Given the description of an element on the screen output the (x, y) to click on. 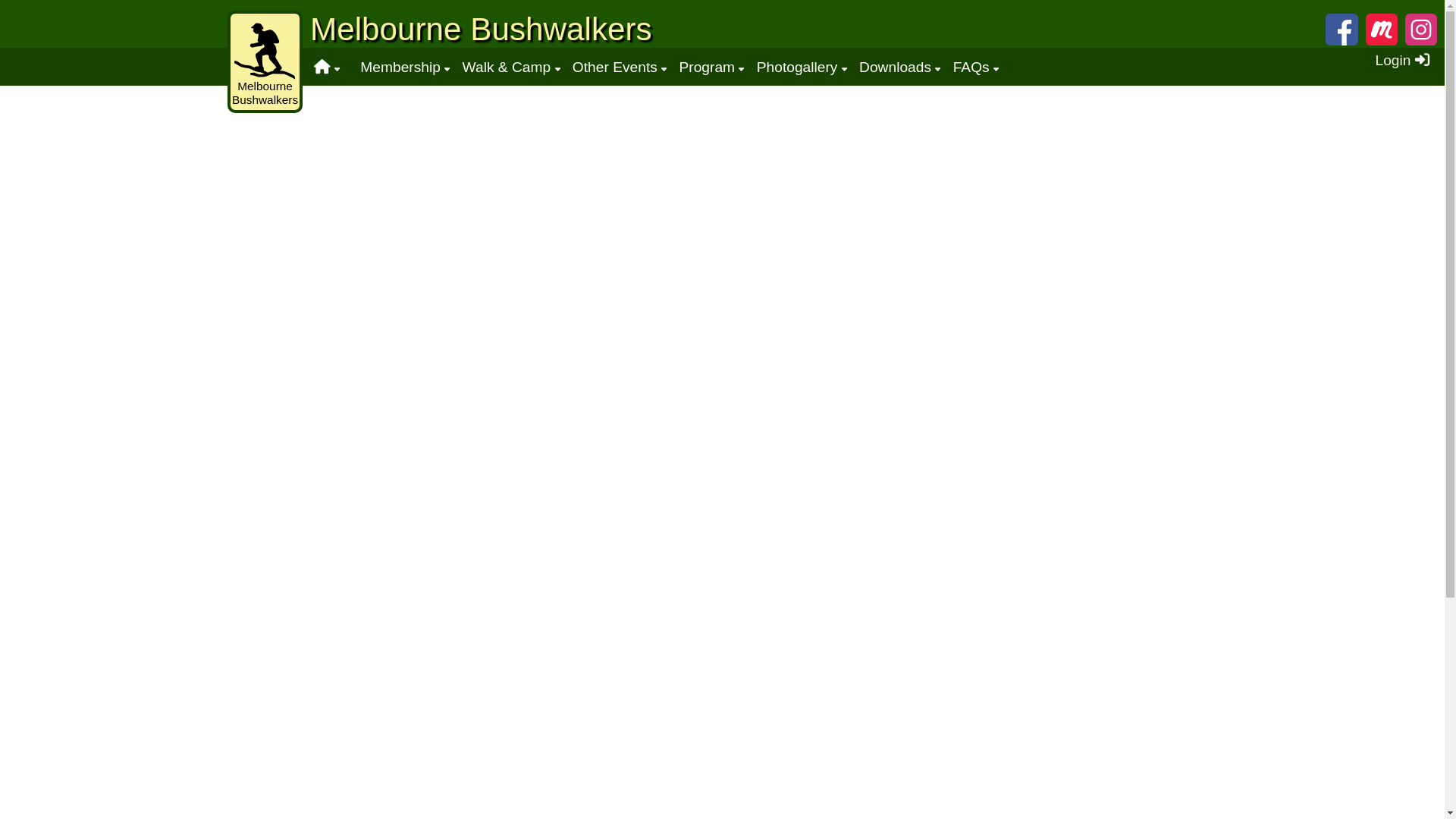
Melbourne
Bushwalkers Element type: text (264, 63)
try_login Element type: text (1044, 183)
Login Element type: text (1402, 60)
